Given the description of an element on the screen output the (x, y) to click on. 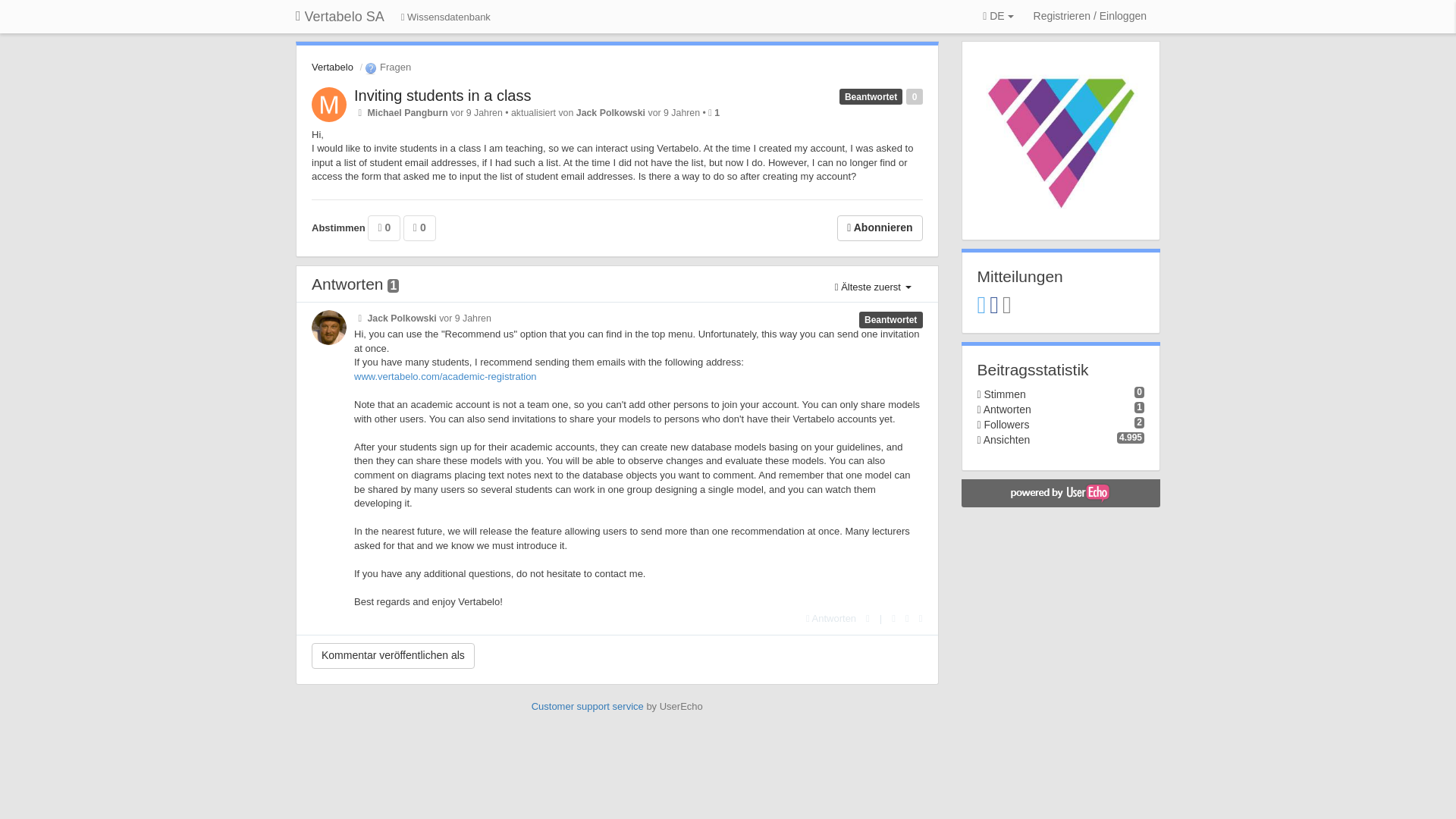
Inviting students in a class (442, 95)
Vertabelo SA (339, 16)
Fragen (386, 66)
DE (997, 16)
Wissensdatenbank (446, 17)
Jack Polkowski (610, 112)
Michael Pangburn (406, 112)
0 (384, 227)
Vertabelo (332, 66)
